Given the description of an element on the screen output the (x, y) to click on. 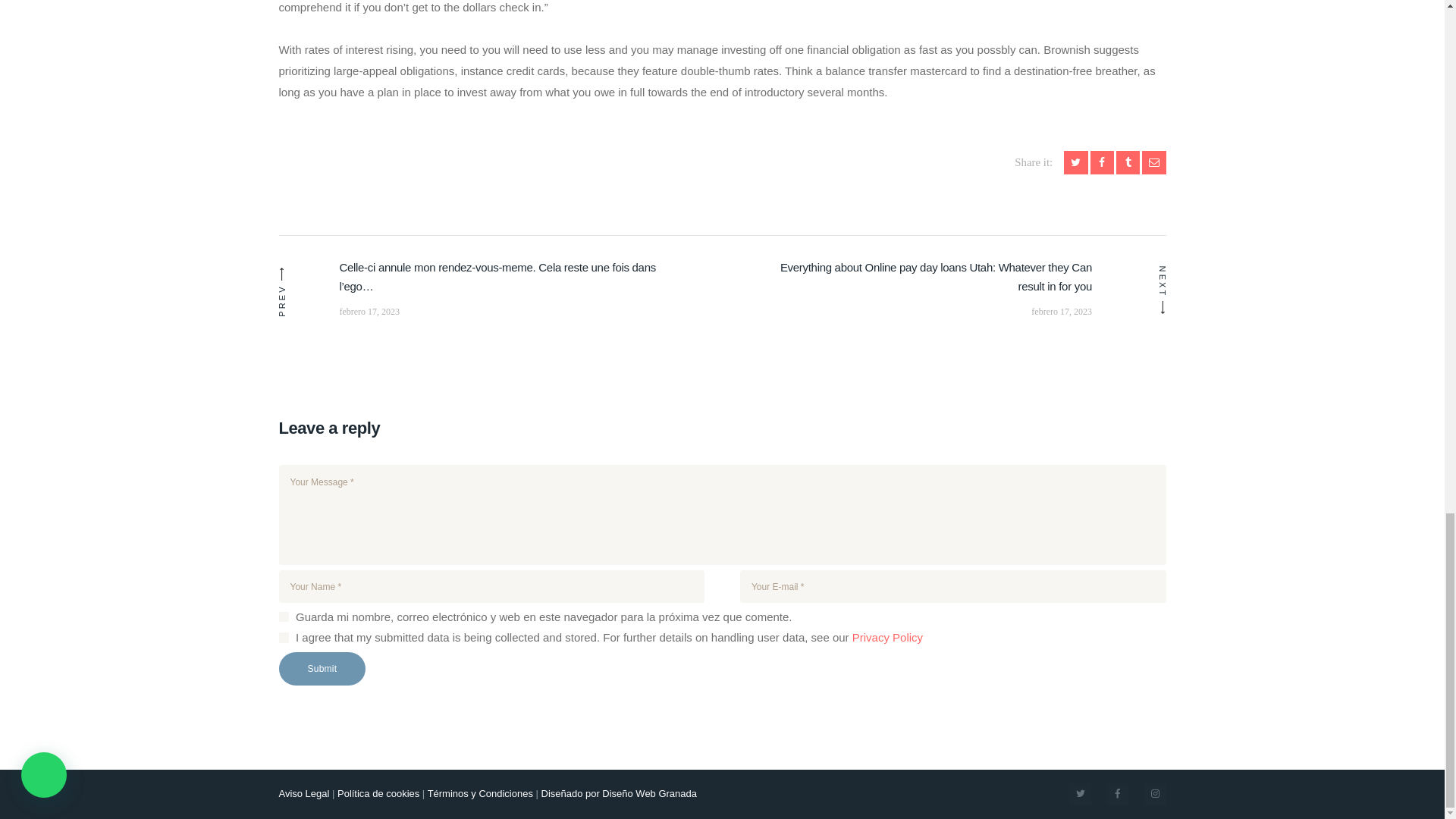
Privacy Policy (887, 636)
Submit (322, 668)
